Given the description of an element on the screen output the (x, y) to click on. 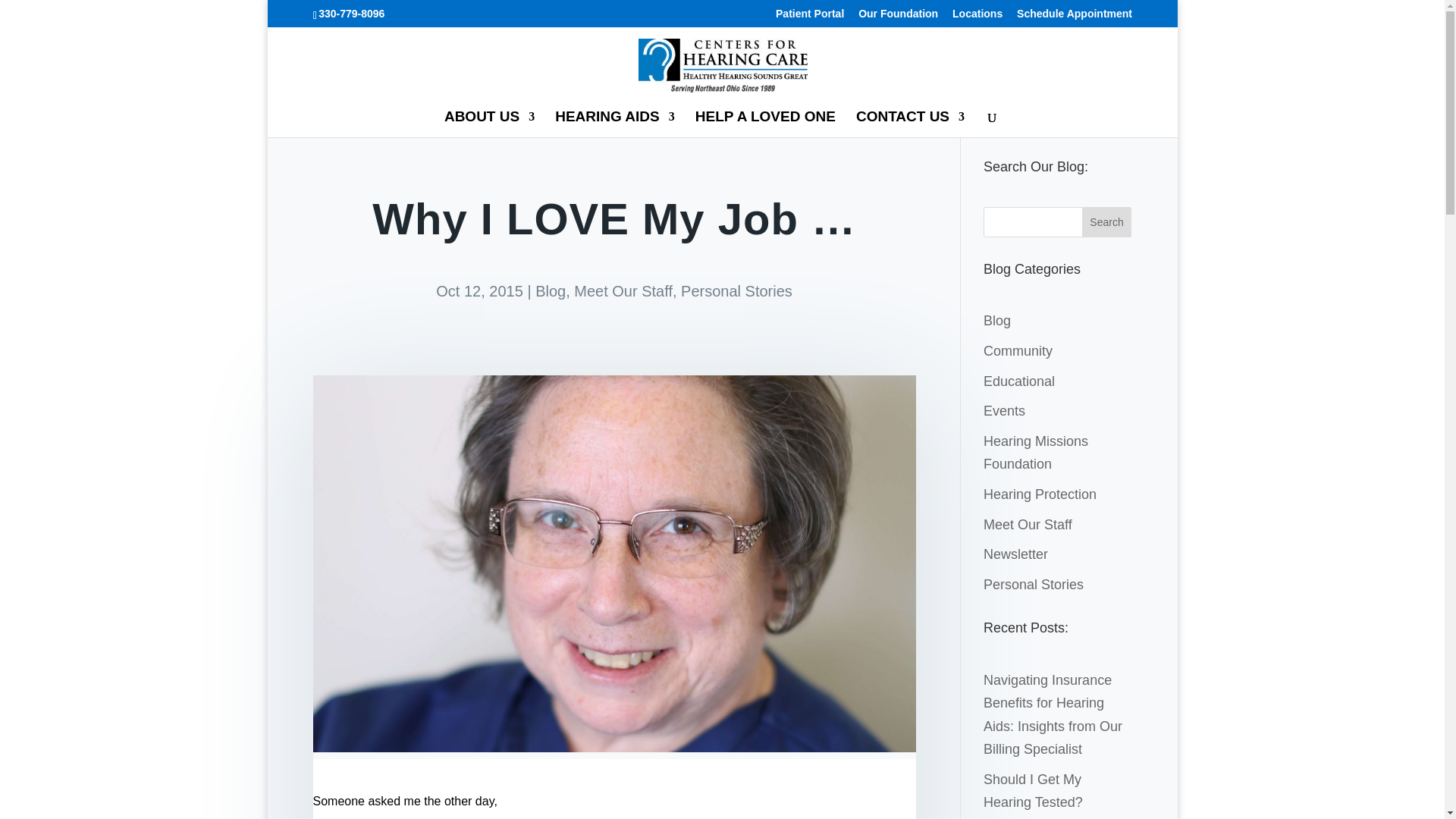
CONTACT US (909, 124)
HELP A LOVED ONE (765, 124)
Patient Portal (810, 16)
Our Foundation (898, 16)
Locations (977, 16)
HEARING AIDS (614, 124)
ABOUT US (489, 124)
Schedule Appointment (1074, 16)
Search (1106, 222)
